Given the description of an element on the screen output the (x, y) to click on. 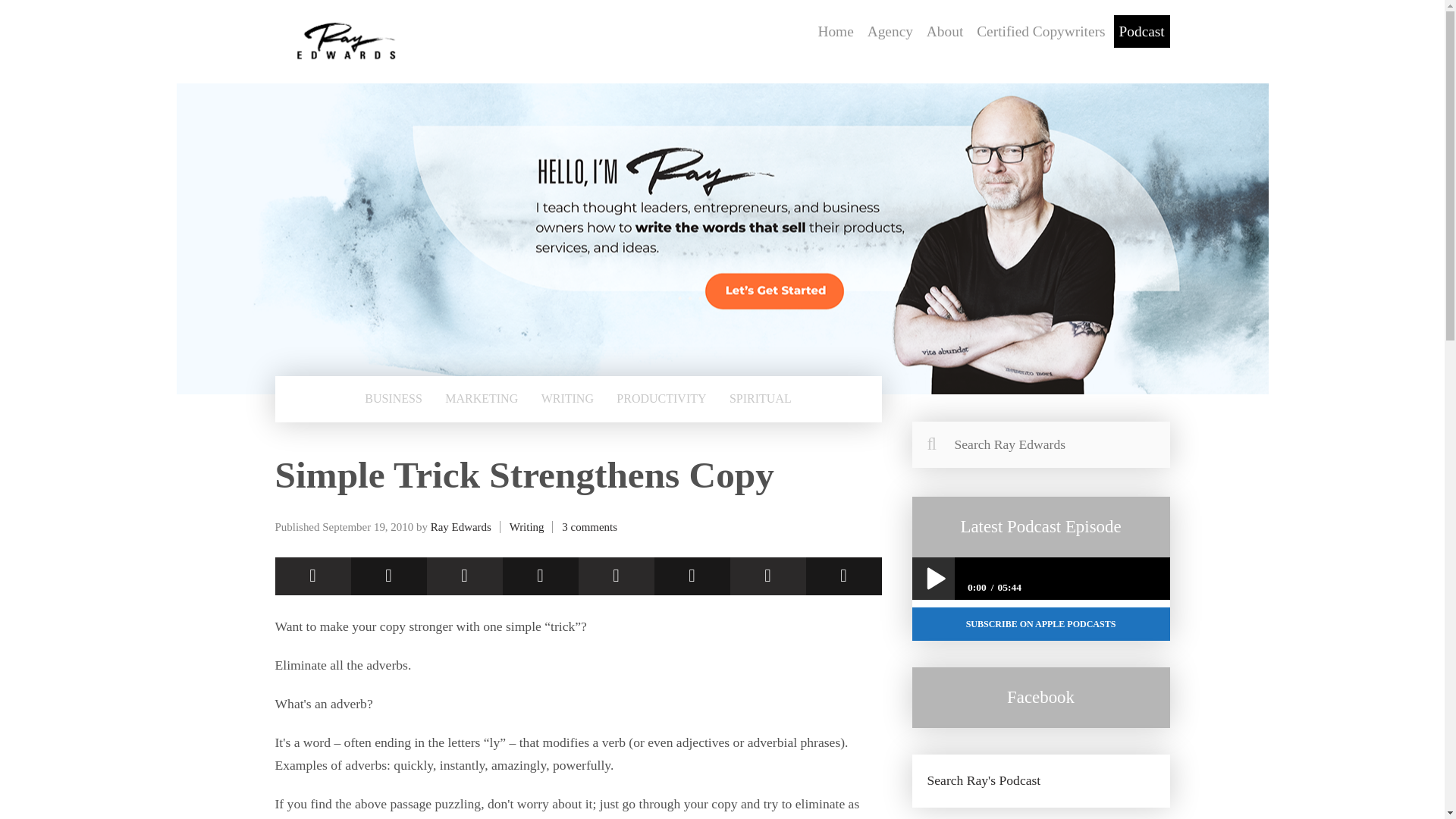
Agency (889, 31)
Certified Copywriters (1040, 31)
SPIRITUAL (760, 398)
Podcast (1141, 31)
Ray Edwards (461, 526)
PRODUCTIVITY (660, 398)
BUSINESS (392, 398)
Search for: (1040, 444)
About (944, 31)
Writing (526, 526)
Home (835, 31)
MARKETING (480, 398)
WRITING (567, 398)
3 comments (589, 526)
